Given the description of an element on the screen output the (x, y) to click on. 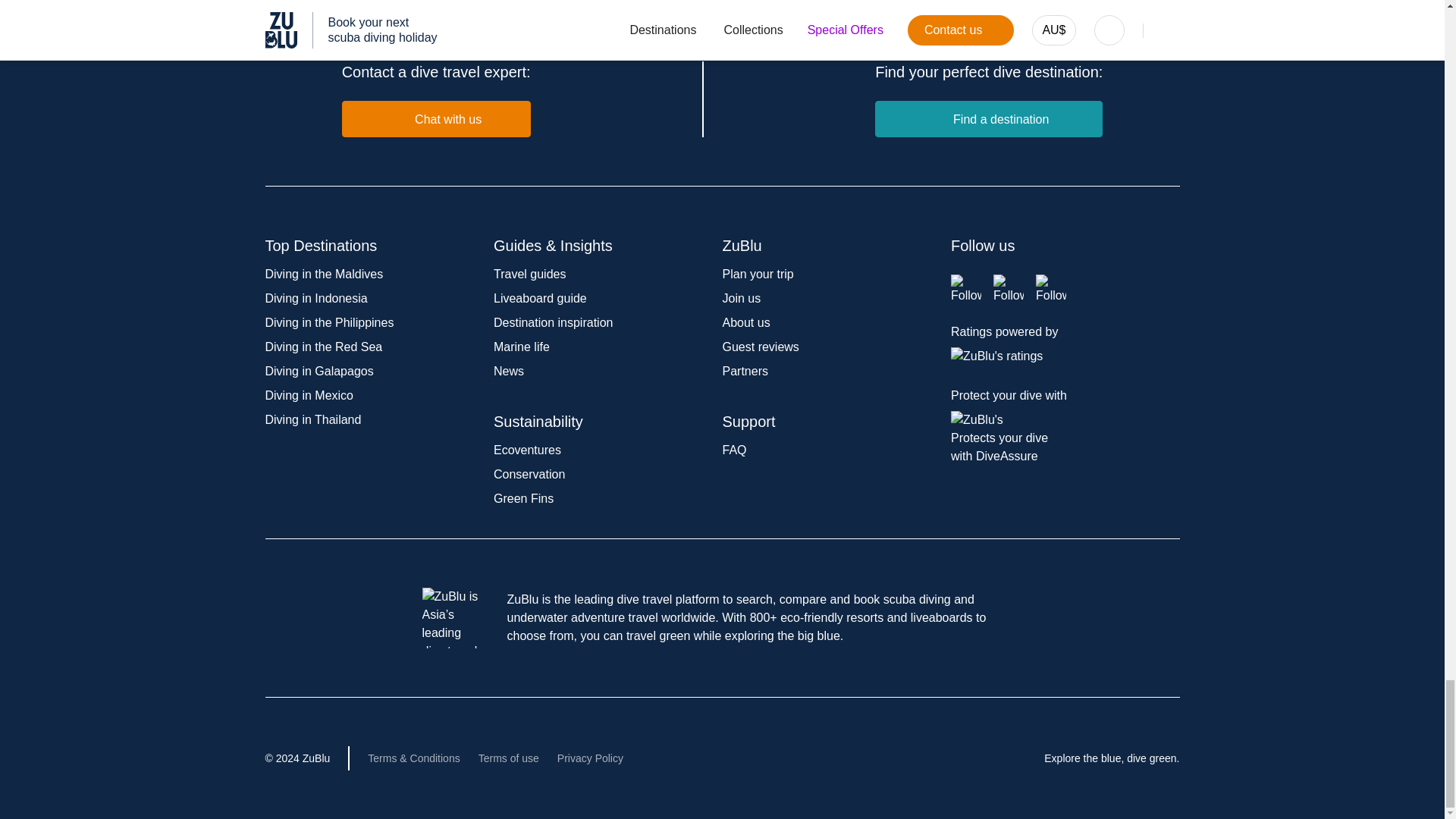
Diving in Indonesia (316, 297)
Diving in Mexico (308, 395)
Find a destination (988, 118)
Diving in Galapagos (319, 370)
Diving in the Maldives (324, 273)
Diving in the Philippines (329, 322)
Chat with us (436, 118)
Travel guides (529, 273)
Diving in Thailand (312, 419)
Diving in the Red Sea (323, 346)
